Given the description of an element on the screen output the (x, y) to click on. 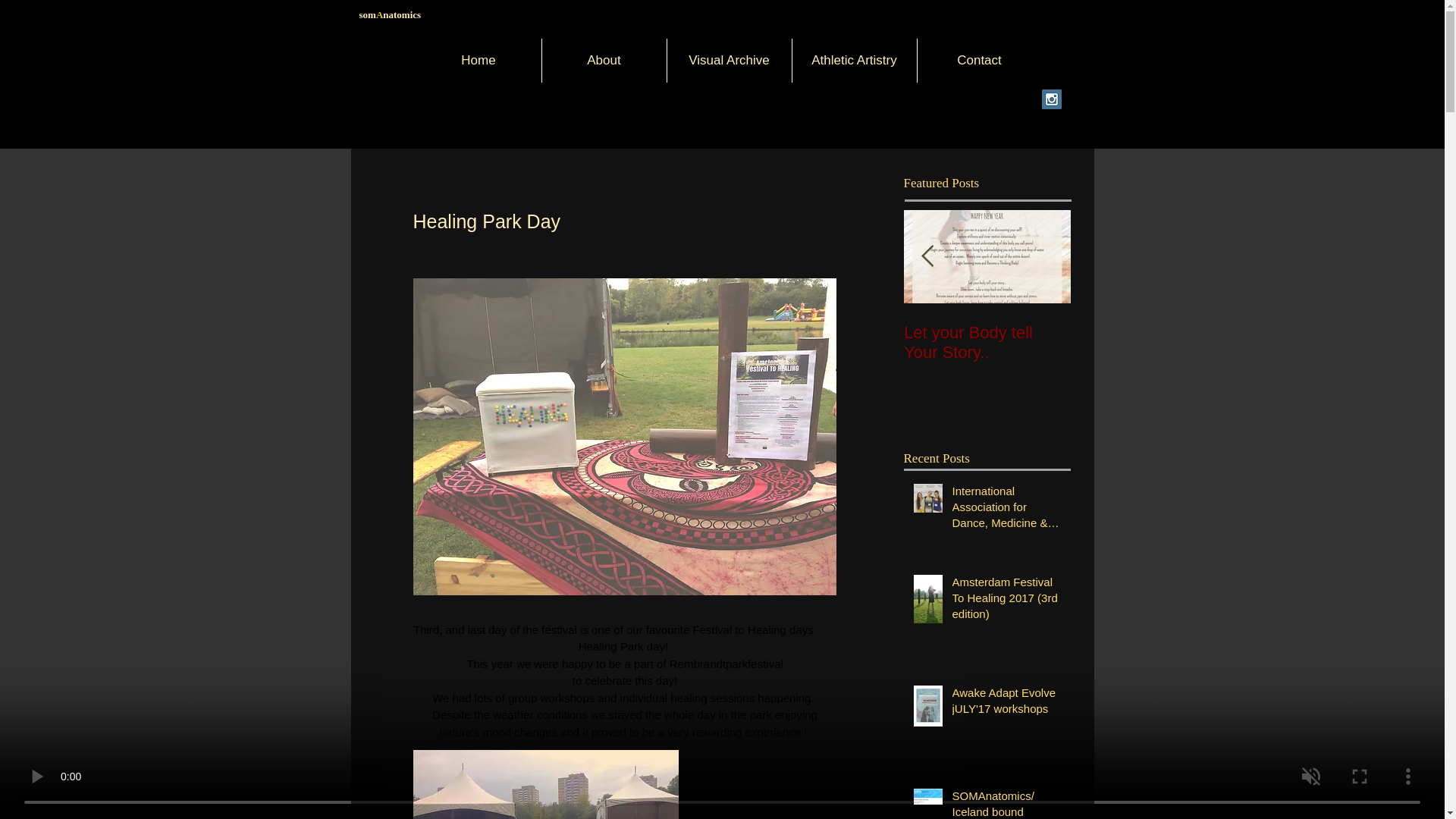
Awake Adapt Evolve jULY'17 workshops (1006, 703)
Home (477, 60)
Let your Body tell Your Story.. (987, 342)
Contact (979, 60)
Happy New Year! (1153, 332)
First Day at Studio Annamora (1321, 342)
